Given the description of an element on the screen output the (x, y) to click on. 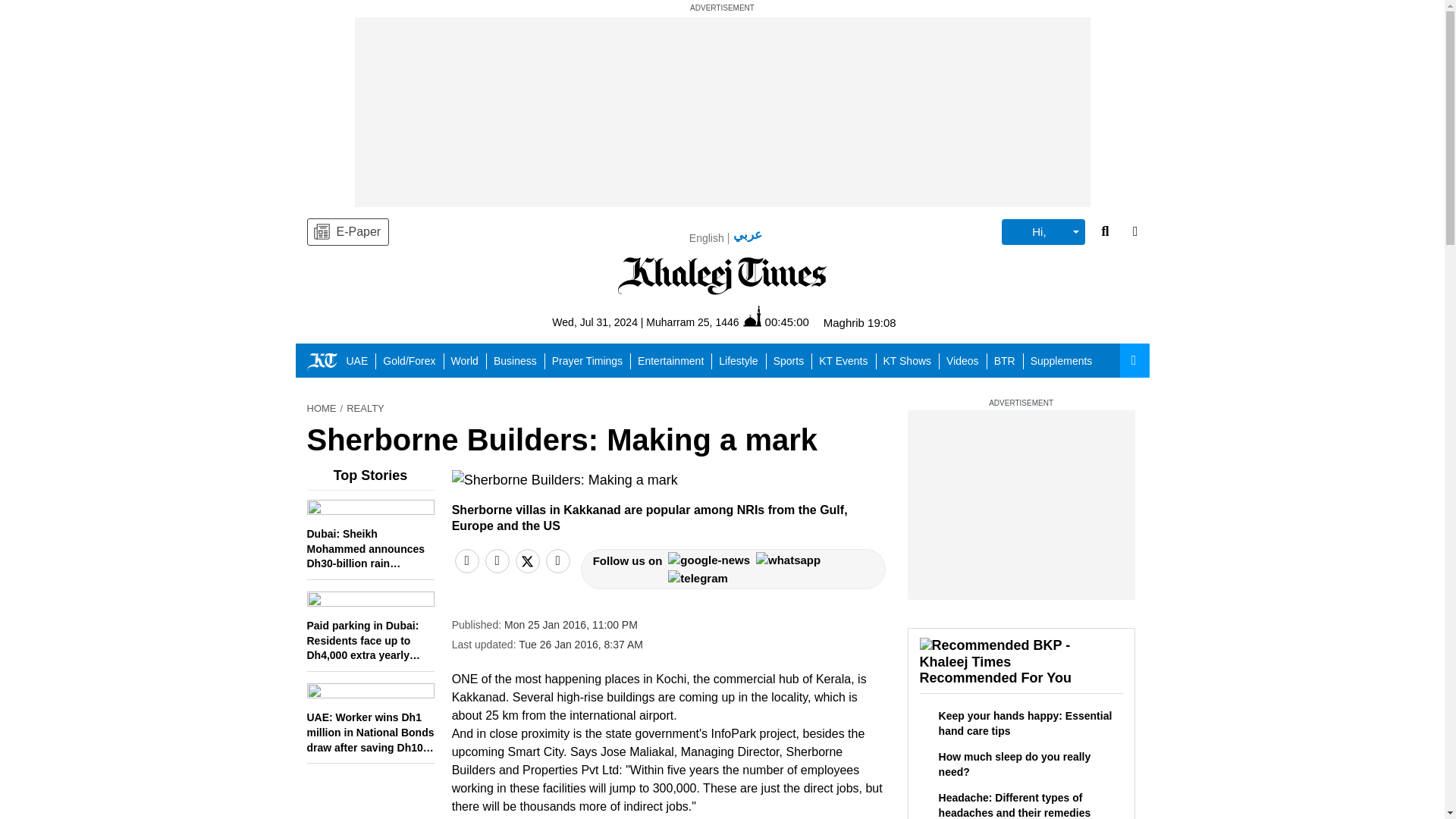
E-Paper (346, 231)
Maghrib 19:08 (860, 322)
00:45:00 (775, 321)
Hi, (1042, 232)
